Given the description of an element on the screen output the (x, y) to click on. 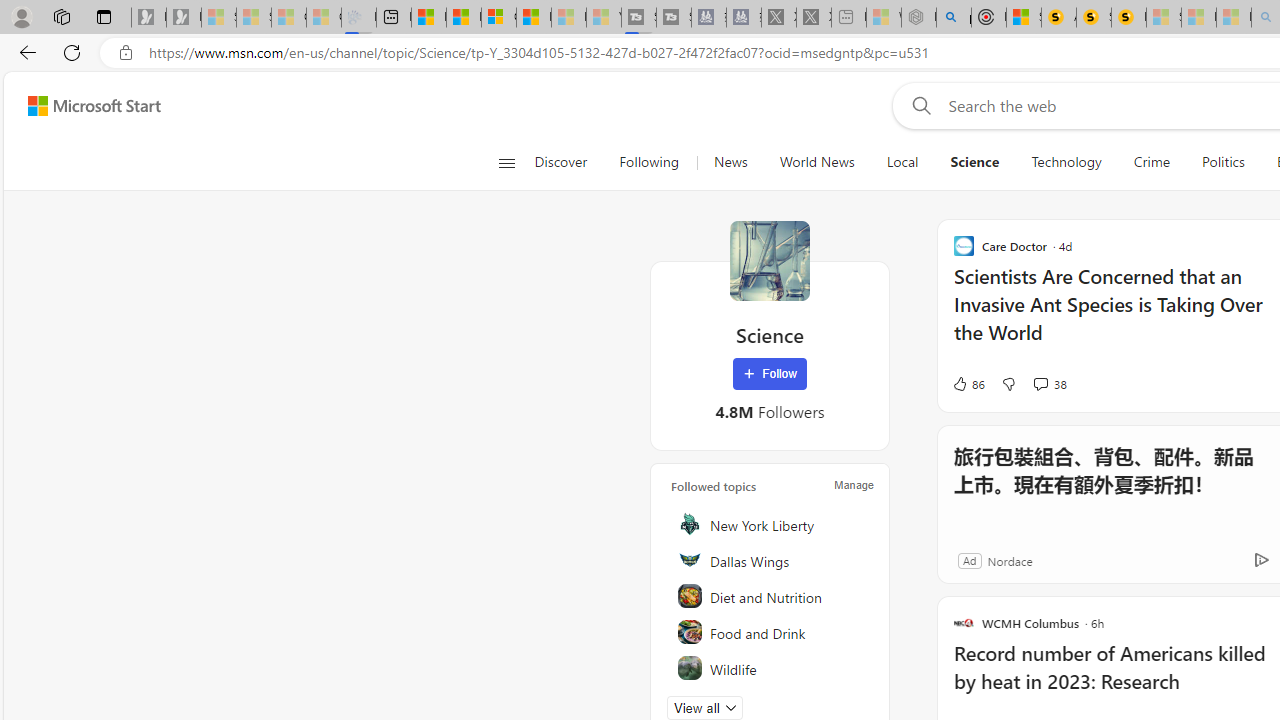
Technology (1066, 162)
Pets (771, 704)
Science (974, 162)
Politics (1223, 162)
Manage (854, 484)
Dallas Wings (771, 560)
Skip to content (86, 105)
View comments 38 Comment (1040, 383)
Web search (917, 105)
Wildlife (771, 668)
Science (769, 260)
Local (902, 162)
